Given the description of an element on the screen output the (x, y) to click on. 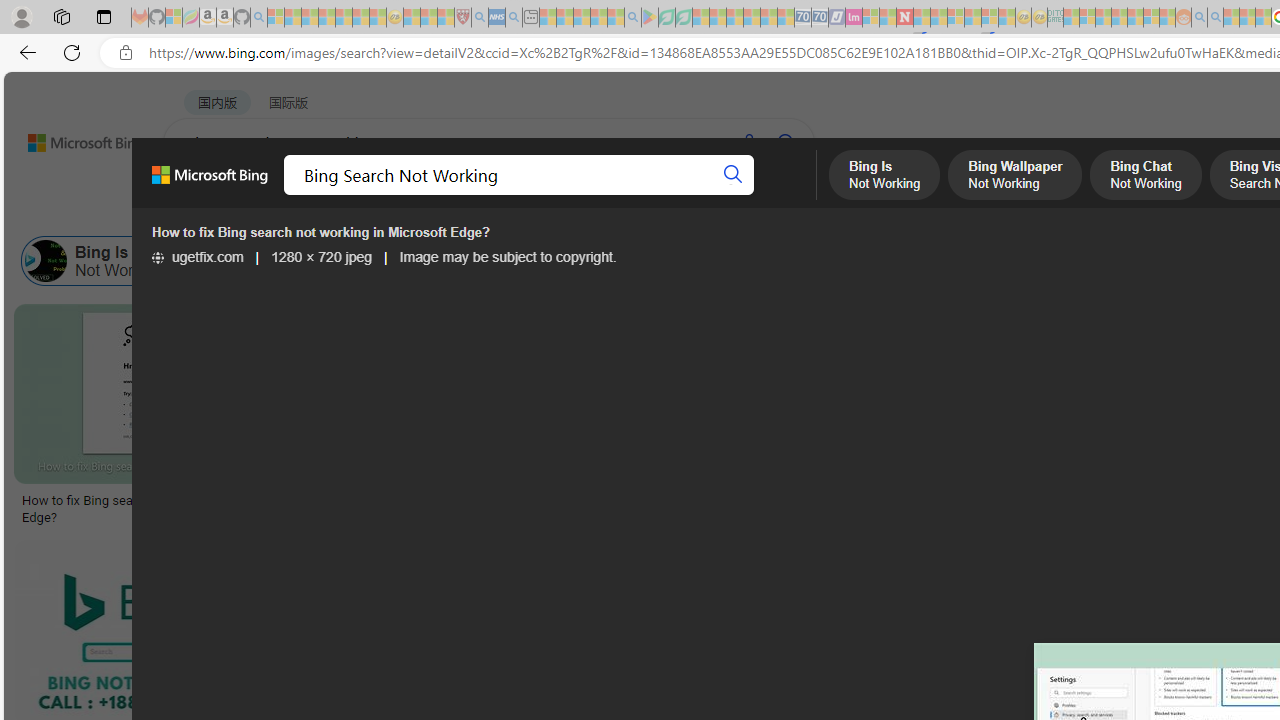
Image may be subject to copyright. (507, 257)
Bing Is Not Working (102, 260)
Latest Politics News & Archive | Newsweek.com - Sleeping (904, 17)
google - Search - Sleeping (632, 17)
Search button (732, 174)
Back to Bing search (73, 138)
VIDEOS (545, 195)
Bluey: Let's Play! - Apps on Google Play - Sleeping (649, 17)
MY BING (276, 195)
